Given the description of an element on the screen output the (x, y) to click on. 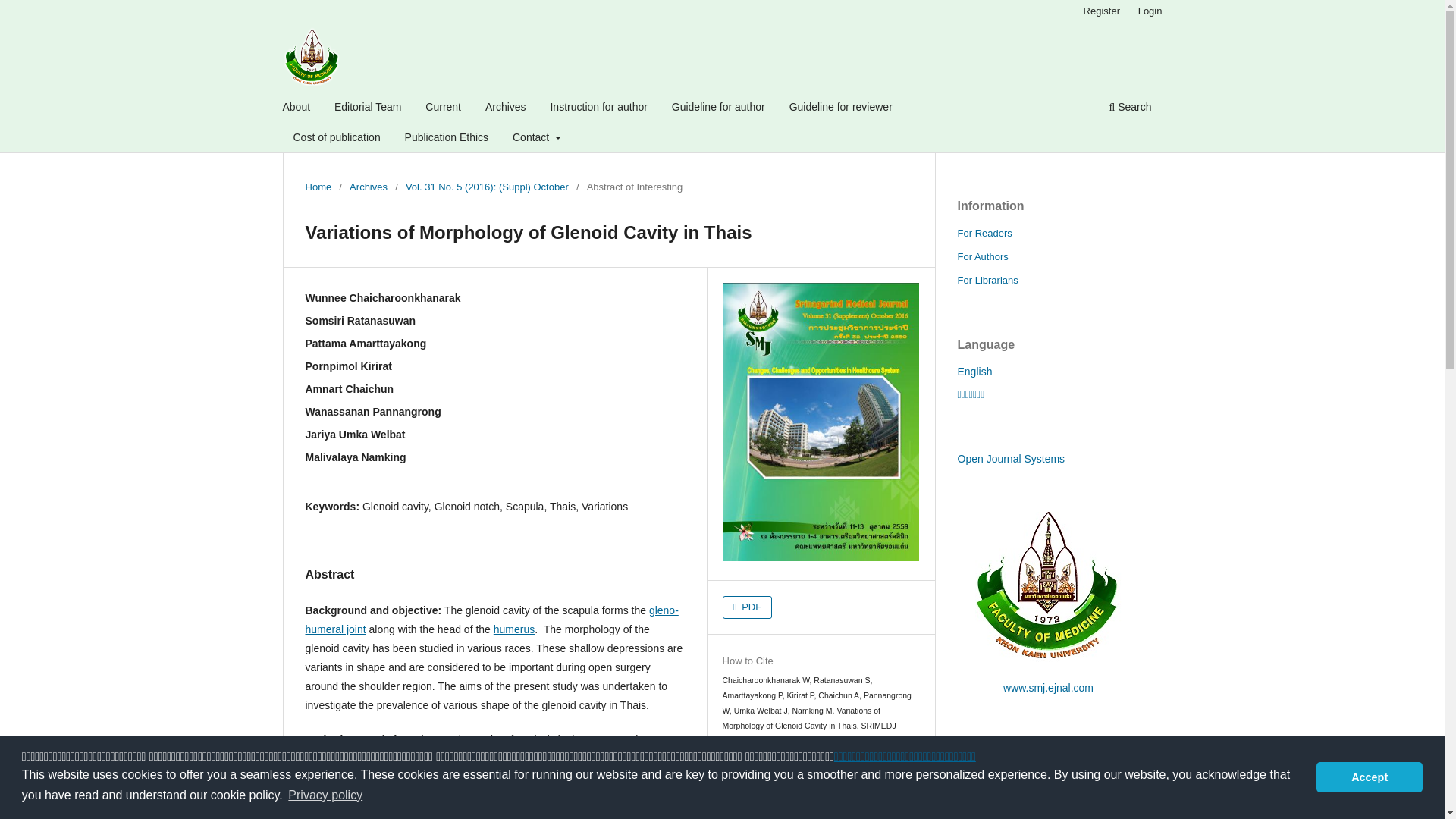
Privacy policy (325, 794)
PDF (747, 607)
Guideline for reviewer (841, 108)
gleno-humeral joint (491, 619)
Editorial Team (367, 108)
Instruction for author (598, 108)
About (296, 108)
Archives (505, 108)
Current (442, 108)
Contact (536, 139)
Search (1129, 108)
Cost of publication (336, 139)
humerus (513, 629)
Home (317, 186)
Humerus (513, 629)
